Given the description of an element on the screen output the (x, y) to click on. 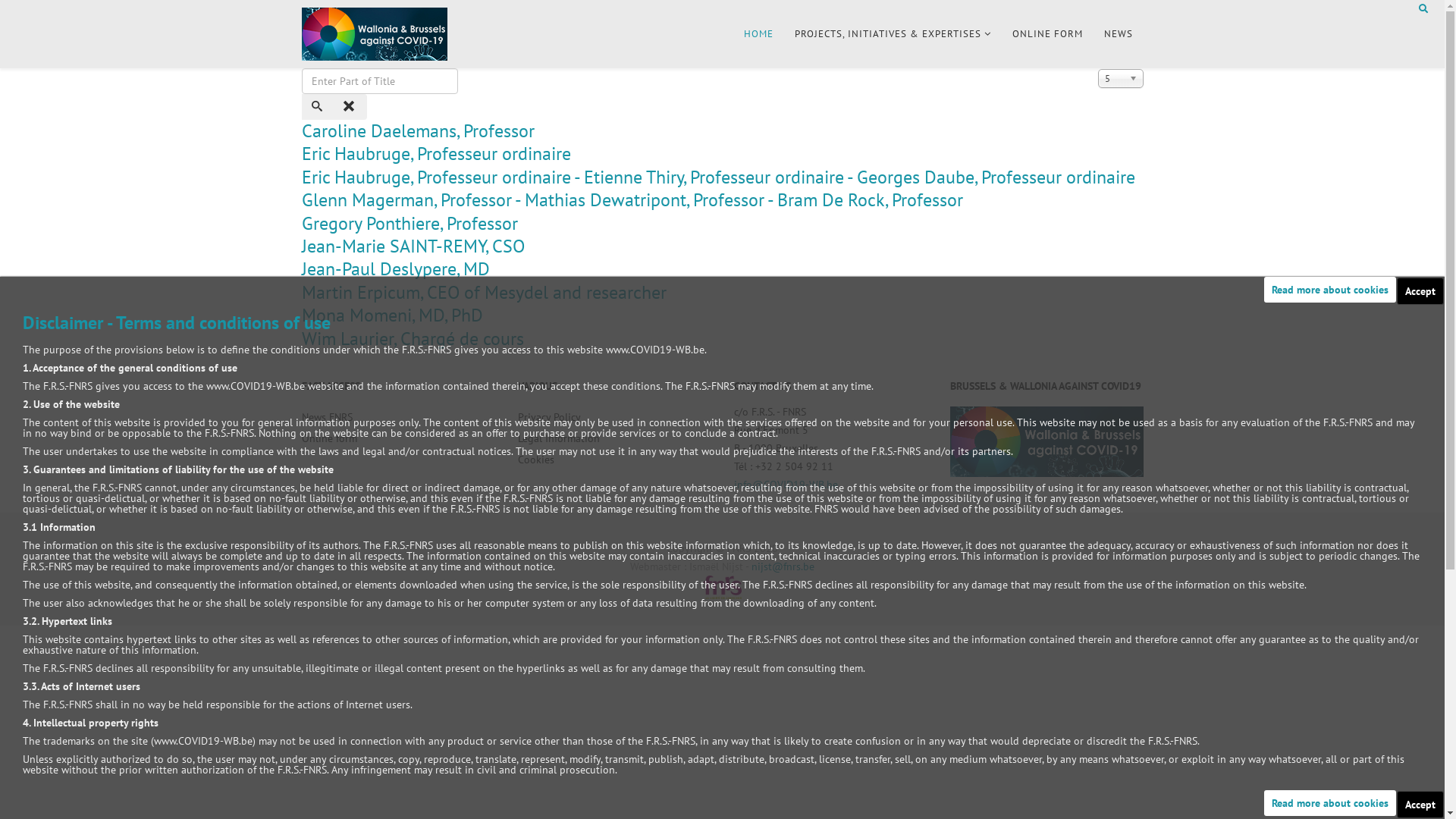
info@COVID19-WB.be Element type: text (785, 484)
Privacy Policy Element type: text (613, 416)
Cookies Element type: text (613, 459)
Clear Element type: hover (350, 106)
Online form Element type: text (398, 437)
Legal Information Element type: text (613, 437)
nijst@fnrs.be Element type: text (782, 566)
Eric Haubruge, Professeur ordinaire Element type: text (436, 153)
ONLINE FORM Element type: text (1046, 34)
PROJECTS, INITIATIVES & EXPERTISES Element type: text (892, 34)
HOME Element type: text (757, 34)
Enter all or part of the title to search for. Element type: hover (379, 81)
Search by keywords Element type: hover (1422, 8)
Mona Momeni, MD, PhD Element type: text (392, 314)
Gregory Ponthiere, Professor Element type: text (409, 223)
Read more about cookies Element type: text (1330, 802)
Accept Element type: text (1419, 291)
NEWS Element type: text (1118, 34)
Jean-Marie SAINT-REMY, CSO Element type: text (412, 245)
Martin Erpicum, CEO of Mesydel and researcher Element type: text (483, 292)
Read more about cookies Element type: text (1330, 290)
Search Element type: hover (318, 106)
5 Element type: text (1120, 78)
Caroline Daelemans, Professor Element type: text (417, 130)
News FNRS Element type: text (398, 416)
Jean-Paul Deslypere, MD Element type: text (395, 268)
Accept Element type: text (1419, 804)
